Given the description of an element on the screen output the (x, y) to click on. 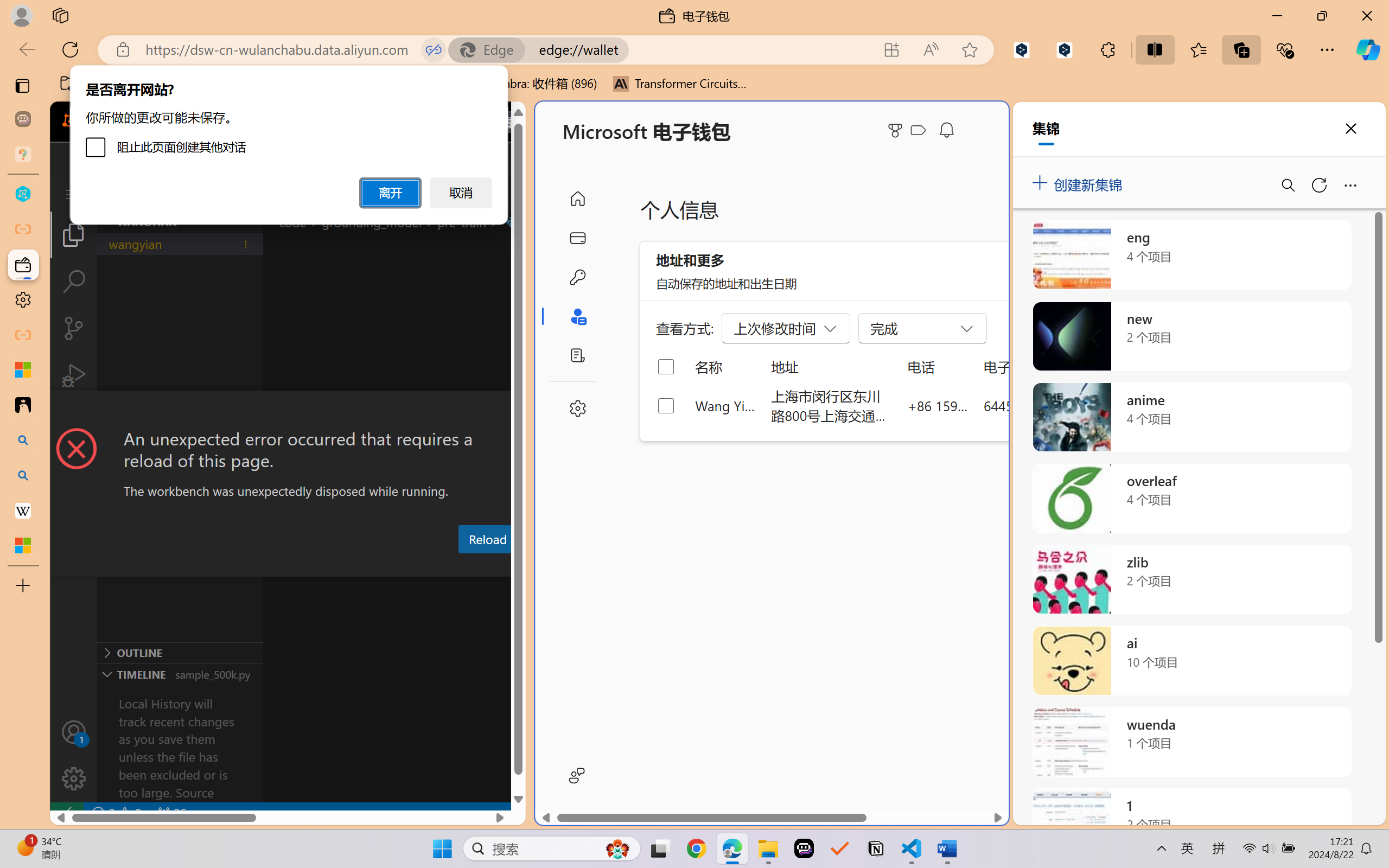
+86 159 0032 4640 (938, 405)
No Problems (115, 812)
Class: ___1lmltc5 f1agt3bx f12qytpq (917, 130)
